Given the description of an element on the screen output the (x, y) to click on. 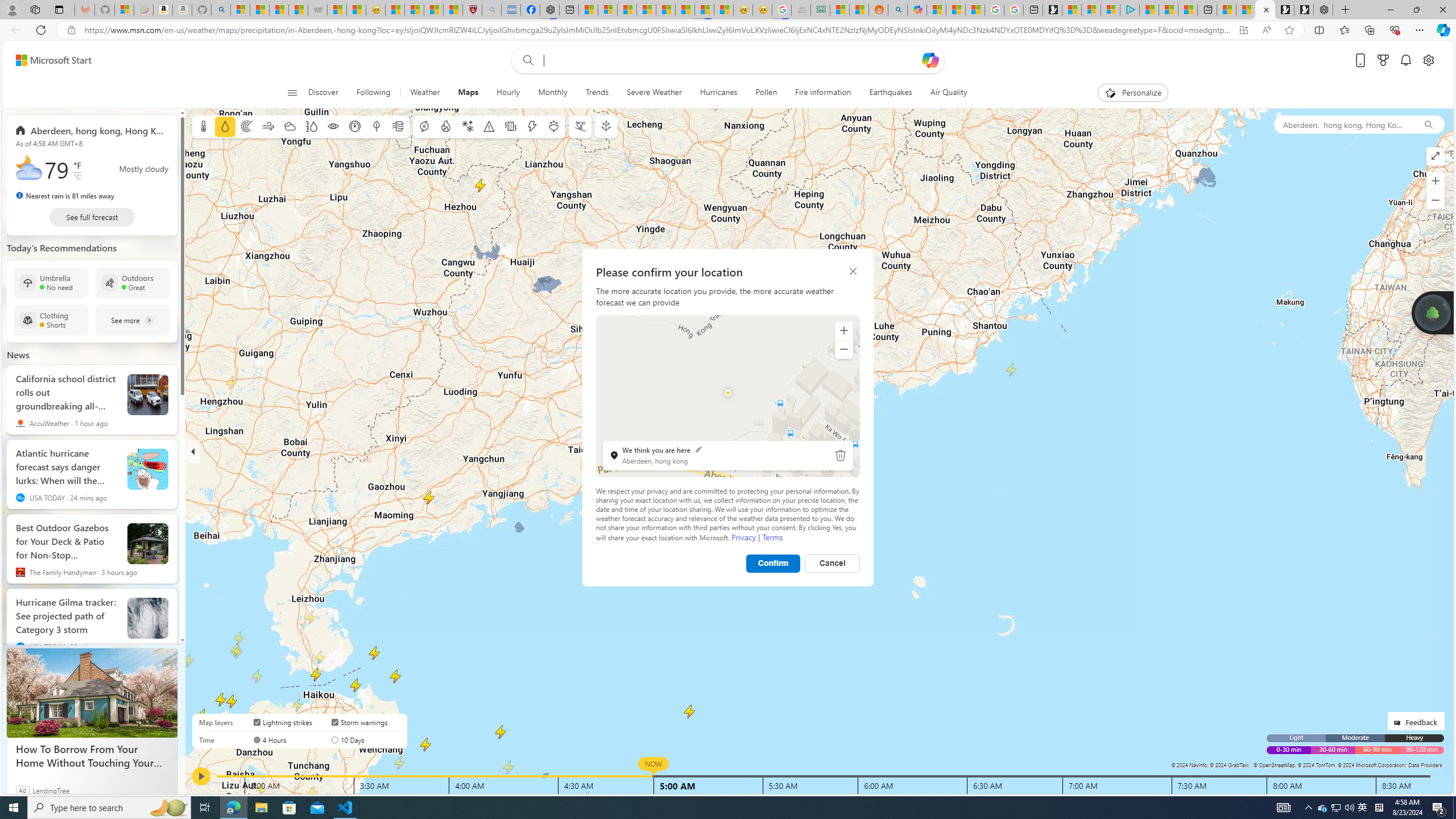
How To Borrow From Your Home Without Touching Your Mortgage (92, 692)
See full forecast (92, 217)
Following (373, 92)
NCL Adult Asthma Inhaler Choice Guideline - Sleeping (510, 9)
To get missing image descriptions, open the context menu. (1109, 92)
